Given the description of an element on the screen output the (x, y) to click on. 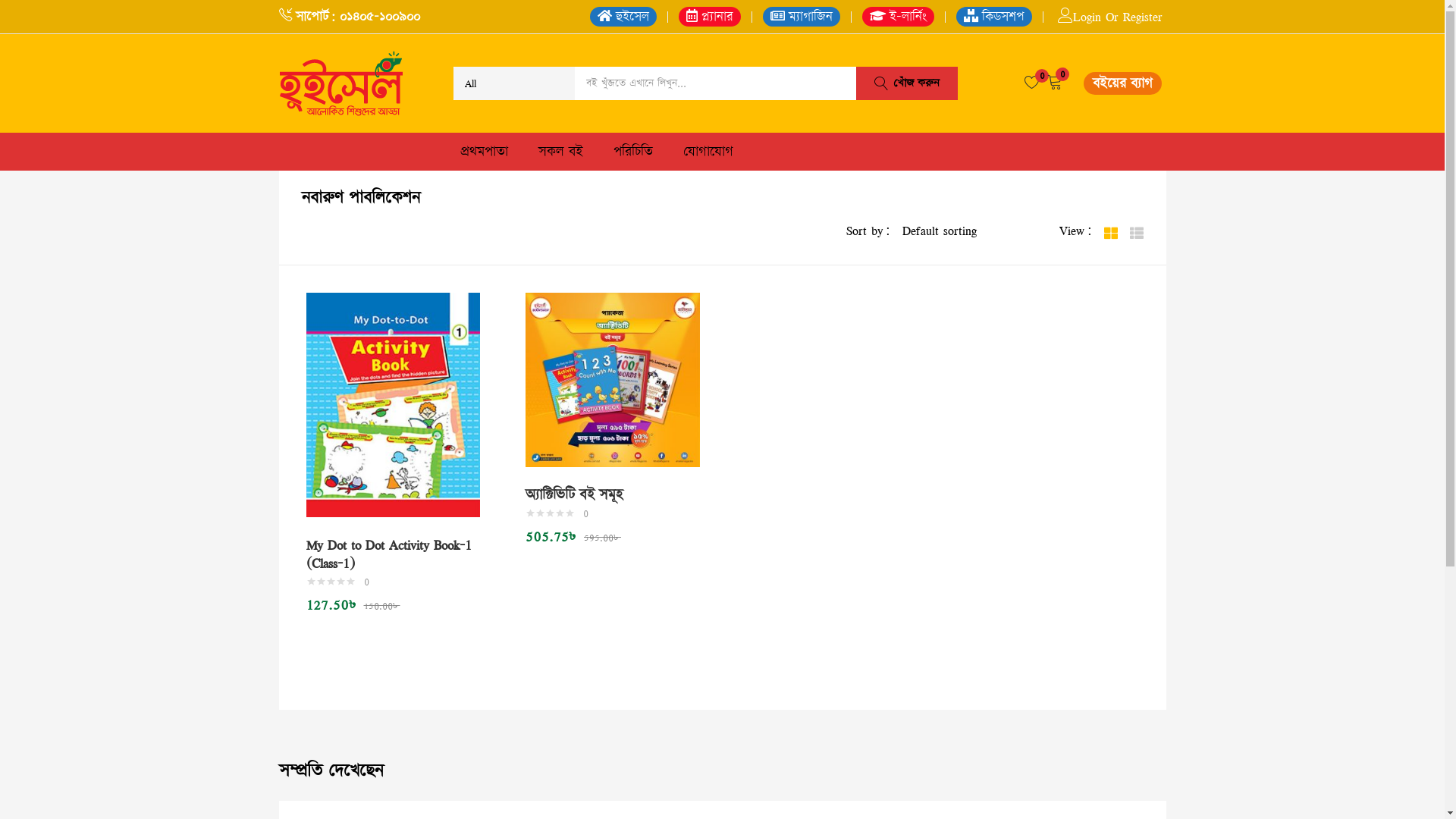
My Dot to Dot Activity Book-1 (Class-1) Element type: text (388, 553)
Grid Element type: hover (1110, 229)
0 Element type: text (1031, 83)
Login Or Register Element type: text (1109, 16)
List Element type: hover (1136, 229)
My Dot to Dot Activity Book-1 (Class-1) Element type: hover (393, 404)
